Given the description of an element on the screen output the (x, y) to click on. 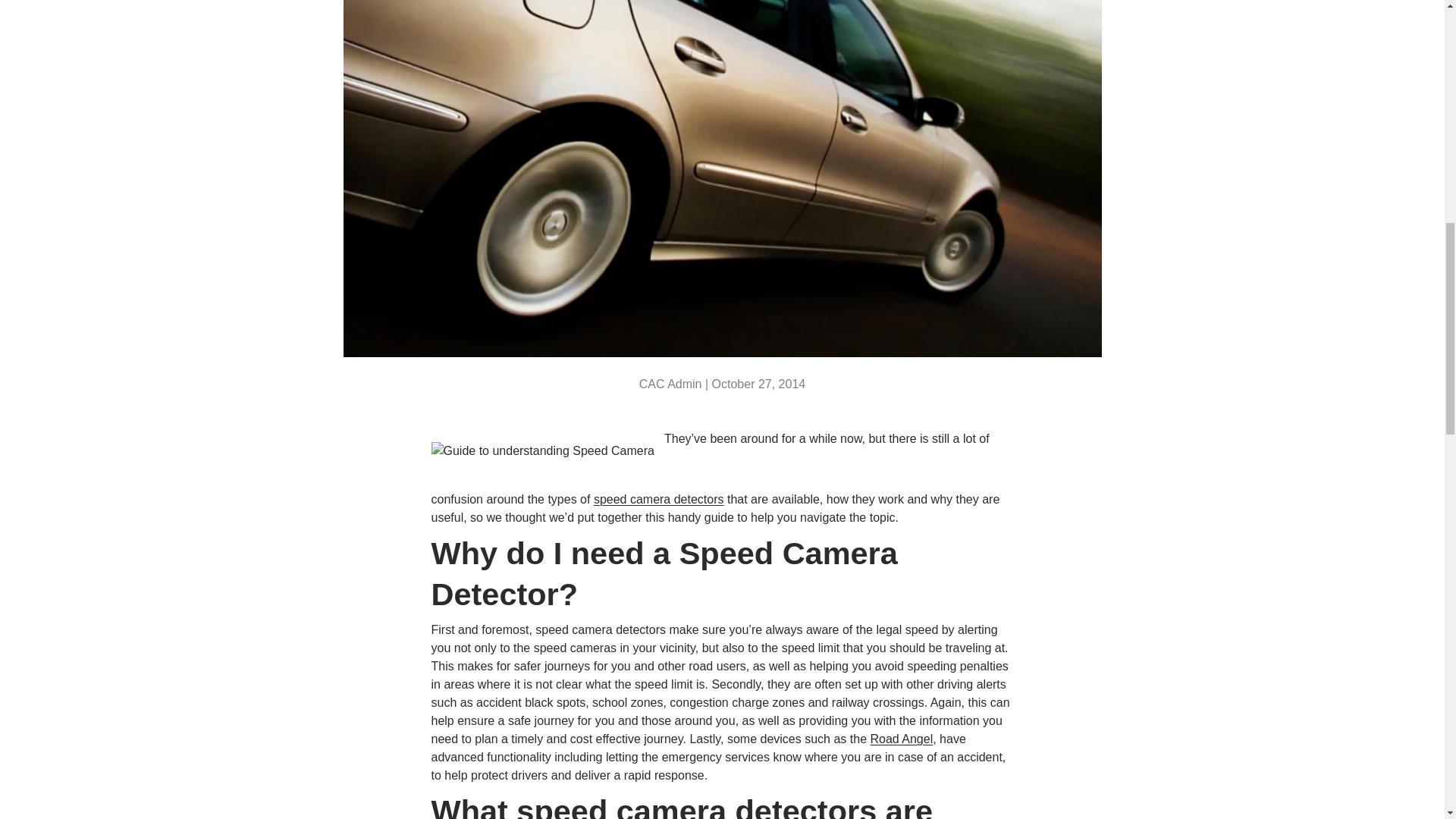
Speed Camera Detectors (658, 499)
Road Angel (901, 738)
The Car Stereo History: How has it evolved? (46, 22)
Winter Driving Essentials Checklist (1409, 22)
